Given the description of an element on the screen output the (x, y) to click on. 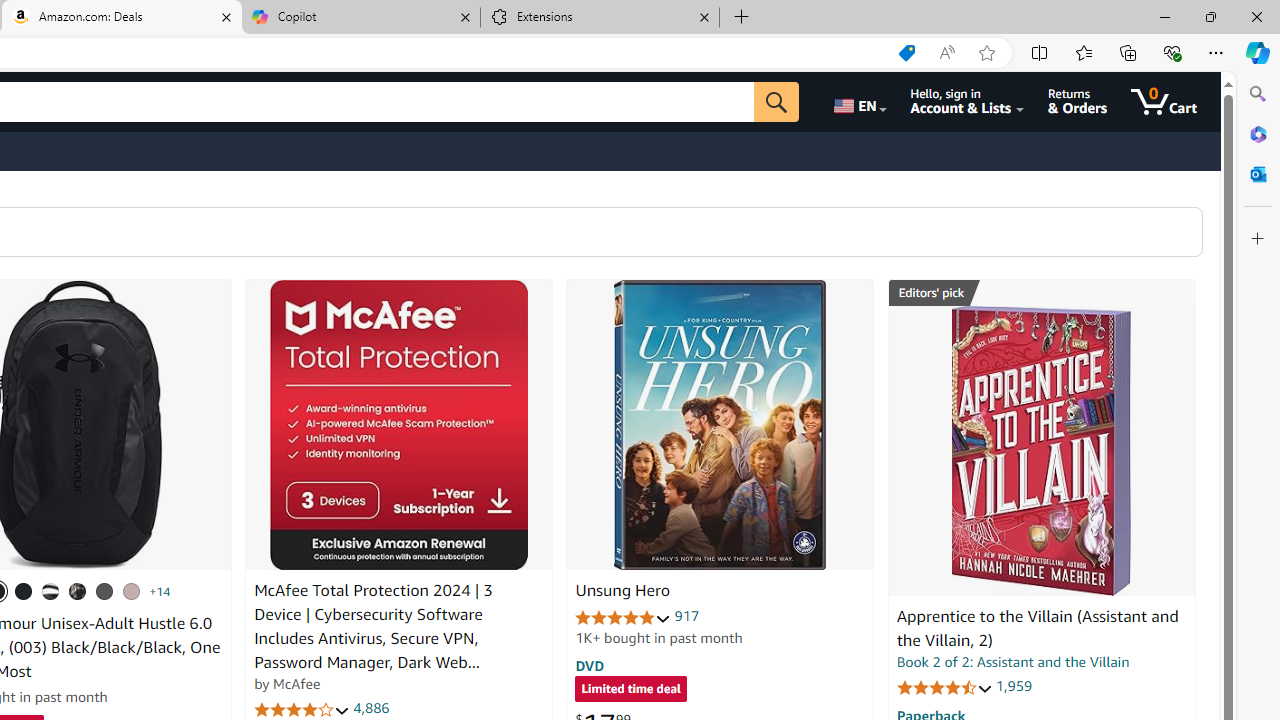
+14 (159, 591)
Shopping in Microsoft Edge (906, 53)
917 (687, 616)
